Given the description of an element on the screen output the (x, y) to click on. 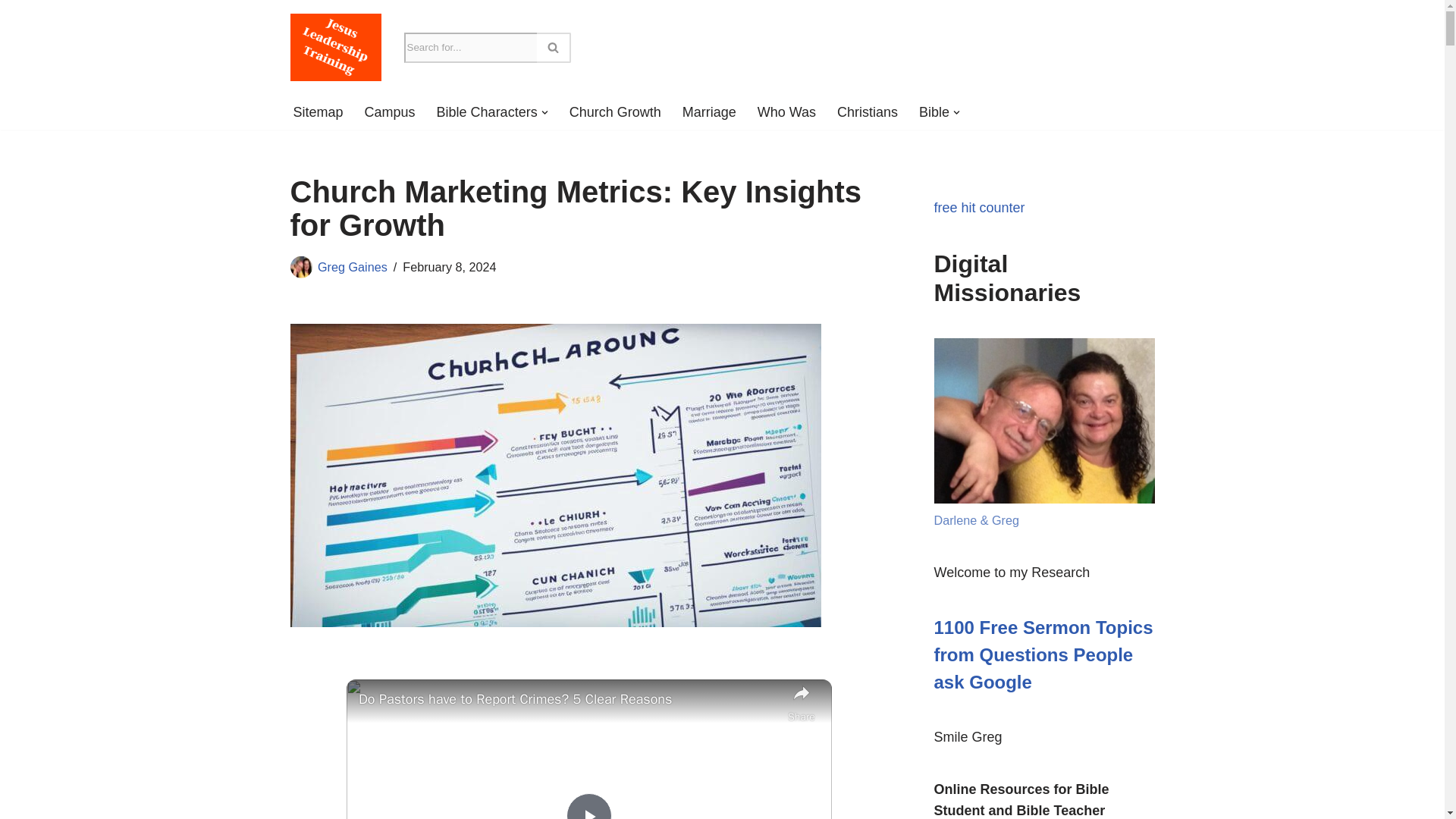
Posts by Greg Gaines (352, 266)
Bible (933, 111)
Who Was (786, 111)
Play Video (588, 806)
Bible Characters (486, 111)
Campus (389, 111)
Christians (867, 111)
Church Growth (615, 111)
Marriage (709, 111)
Skip to content (11, 31)
Sitemap (317, 111)
